Given the description of an element on the screen output the (x, y) to click on. 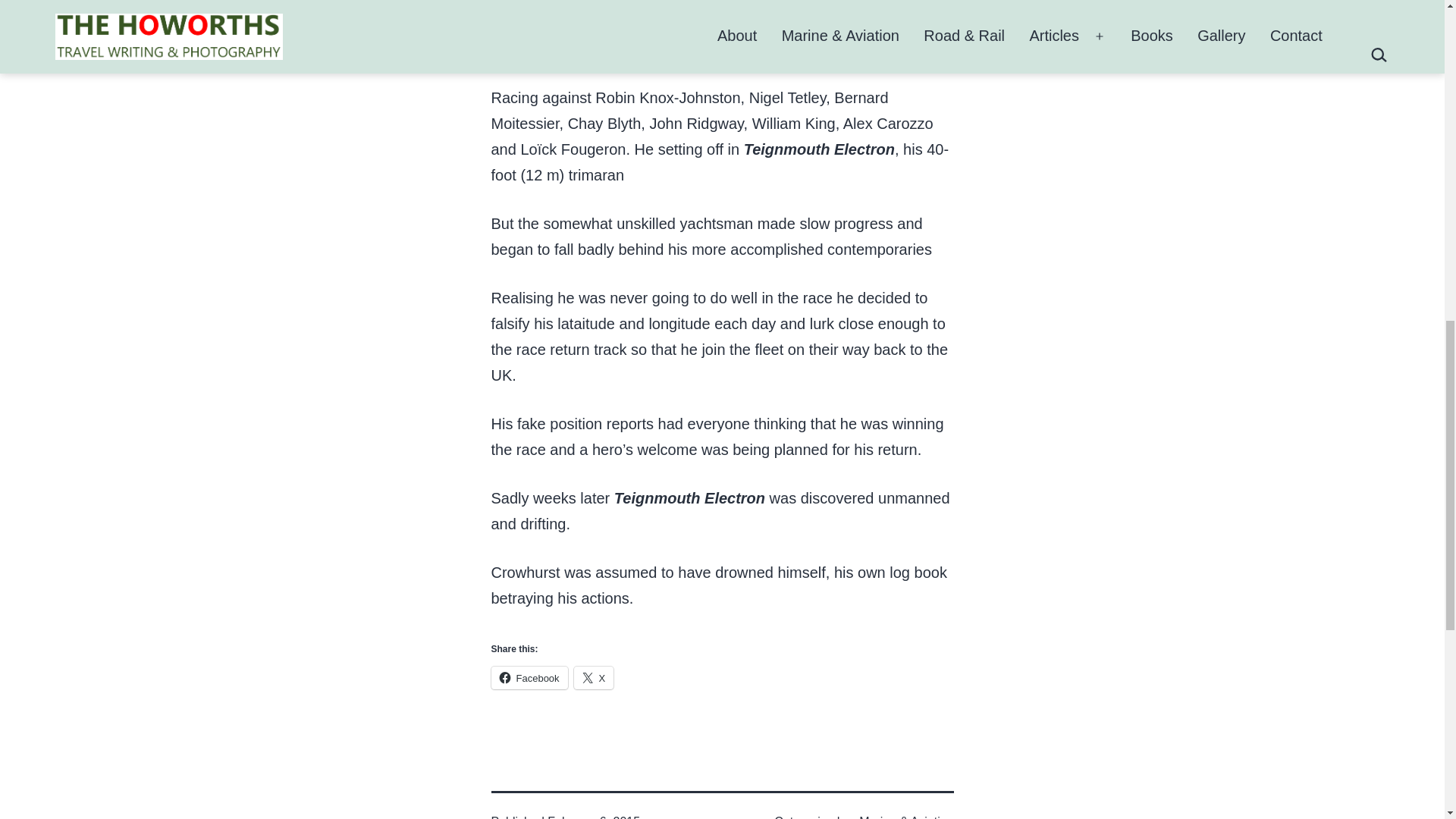
Click to share on Facebook (529, 677)
X (593, 677)
Facebook (529, 677)
Click to share on X (593, 677)
